Given the description of an element on the screen output the (x, y) to click on. 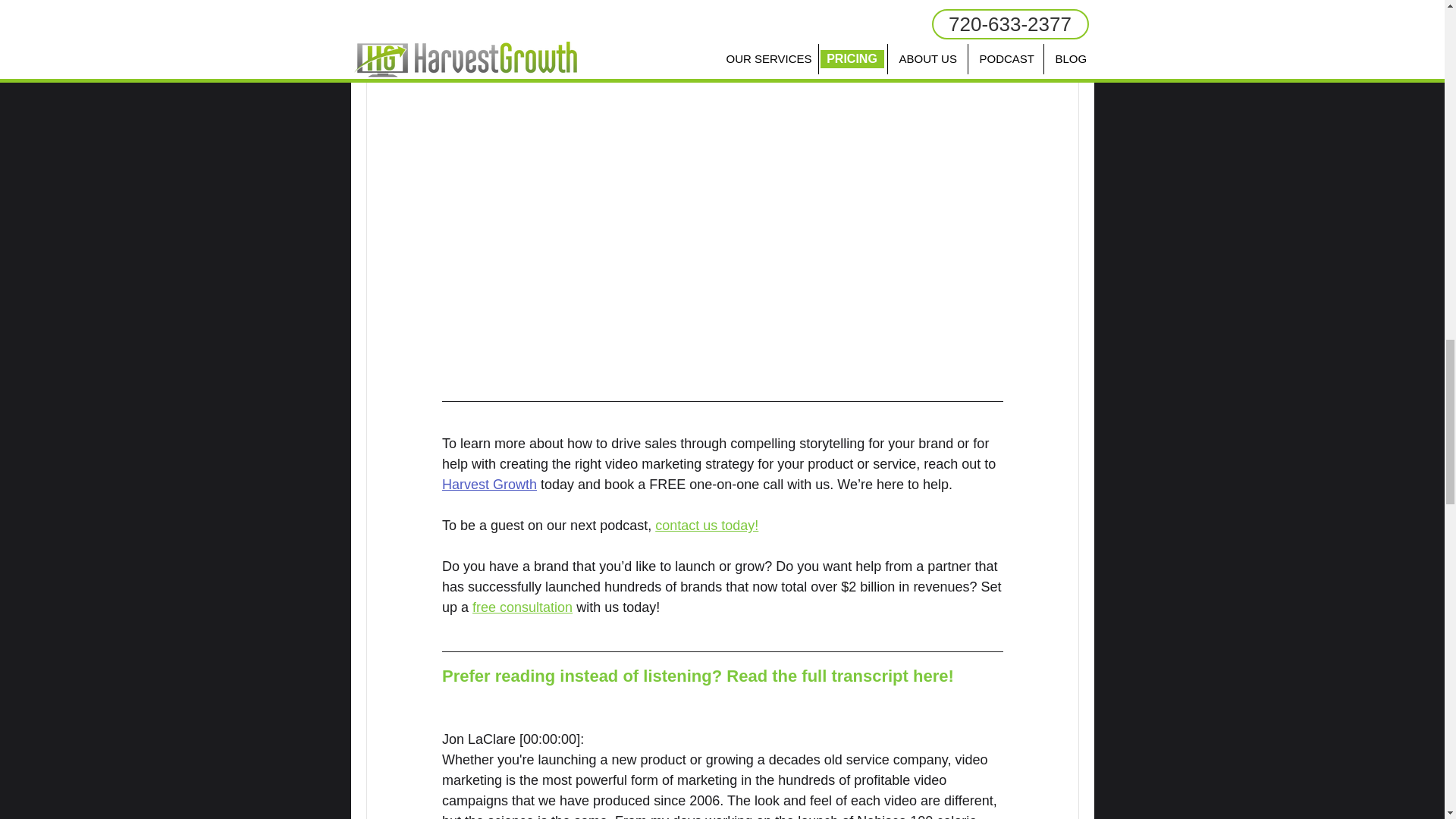
contact us today! (706, 525)
free consultation (521, 607)
Harvest Growth (488, 484)
